Given the description of an element on the screen output the (x, y) to click on. 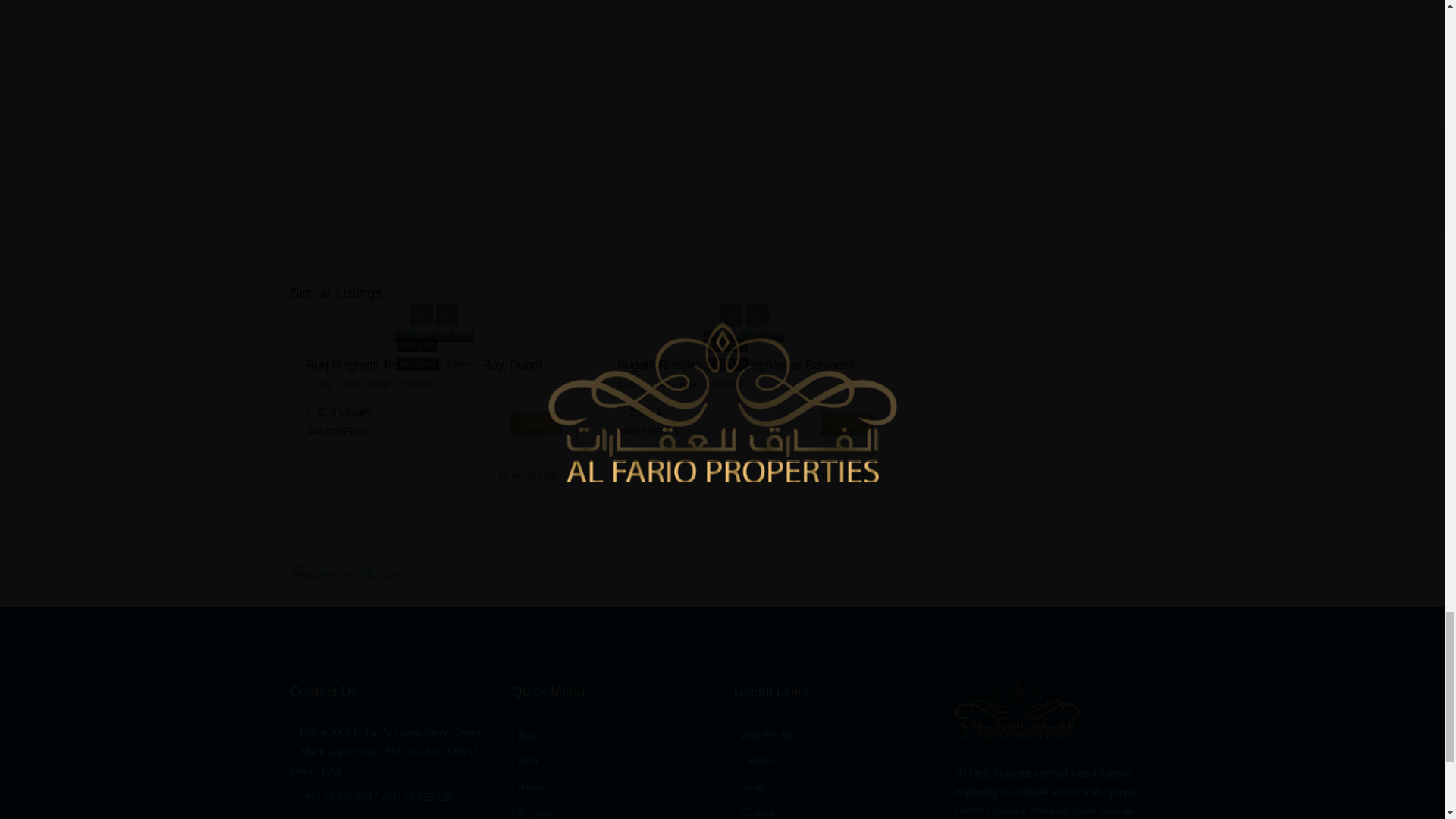
Preview (421, 314)
Favourite (446, 314)
Favourite (756, 314)
Preview (731, 314)
